Given the description of an element on the screen output the (x, y) to click on. 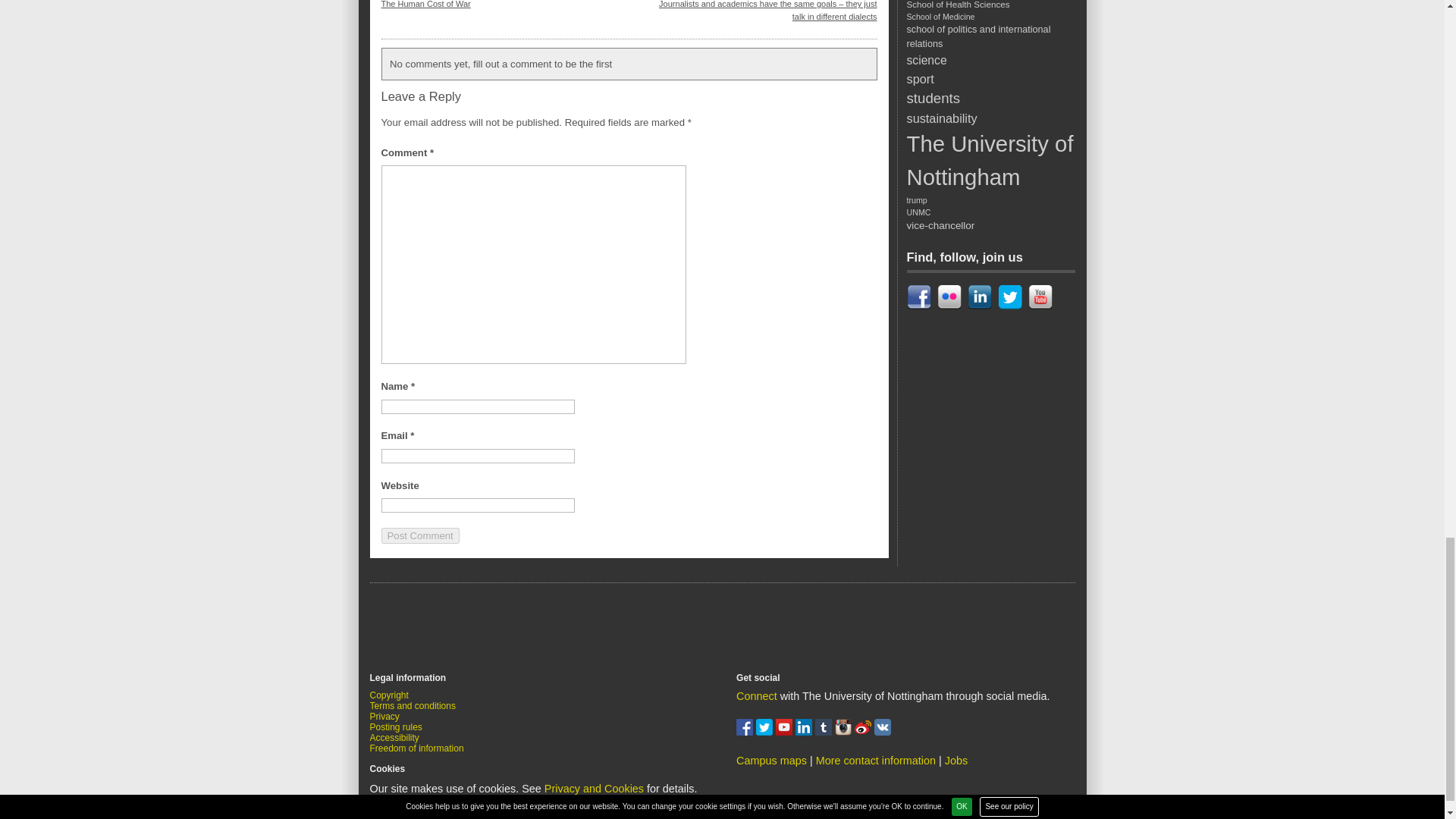
Contact The University of Nottingham (875, 760)
Terms and conditions (412, 706)
Join us on Linked in (804, 731)
Freedom of information (416, 747)
Posting rules (395, 726)
Privacy (383, 716)
Watch us on You Tube (785, 731)
View our campus maps (771, 760)
Follow us on twitter (765, 731)
Find us on Weibo (864, 731)
Copyright  (389, 695)
Join us on vkontakte (883, 731)
Accessibility (394, 737)
Find us on Instagram (844, 731)
Post Comment (419, 535)
